Given the description of an element on the screen output the (x, y) to click on. 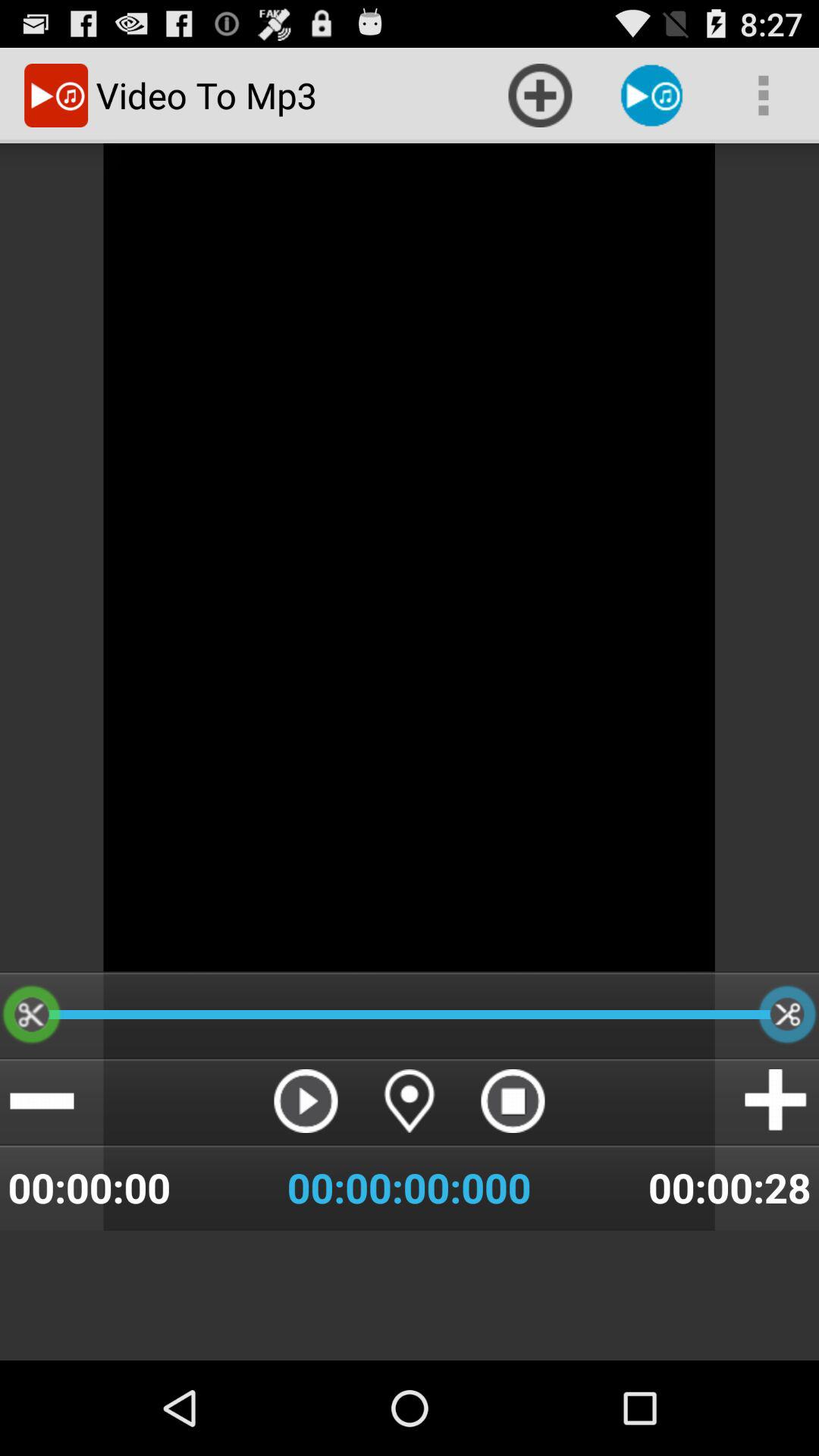
open app above the 00 00 00 (409, 1100)
